Given the description of an element on the screen output the (x, y) to click on. 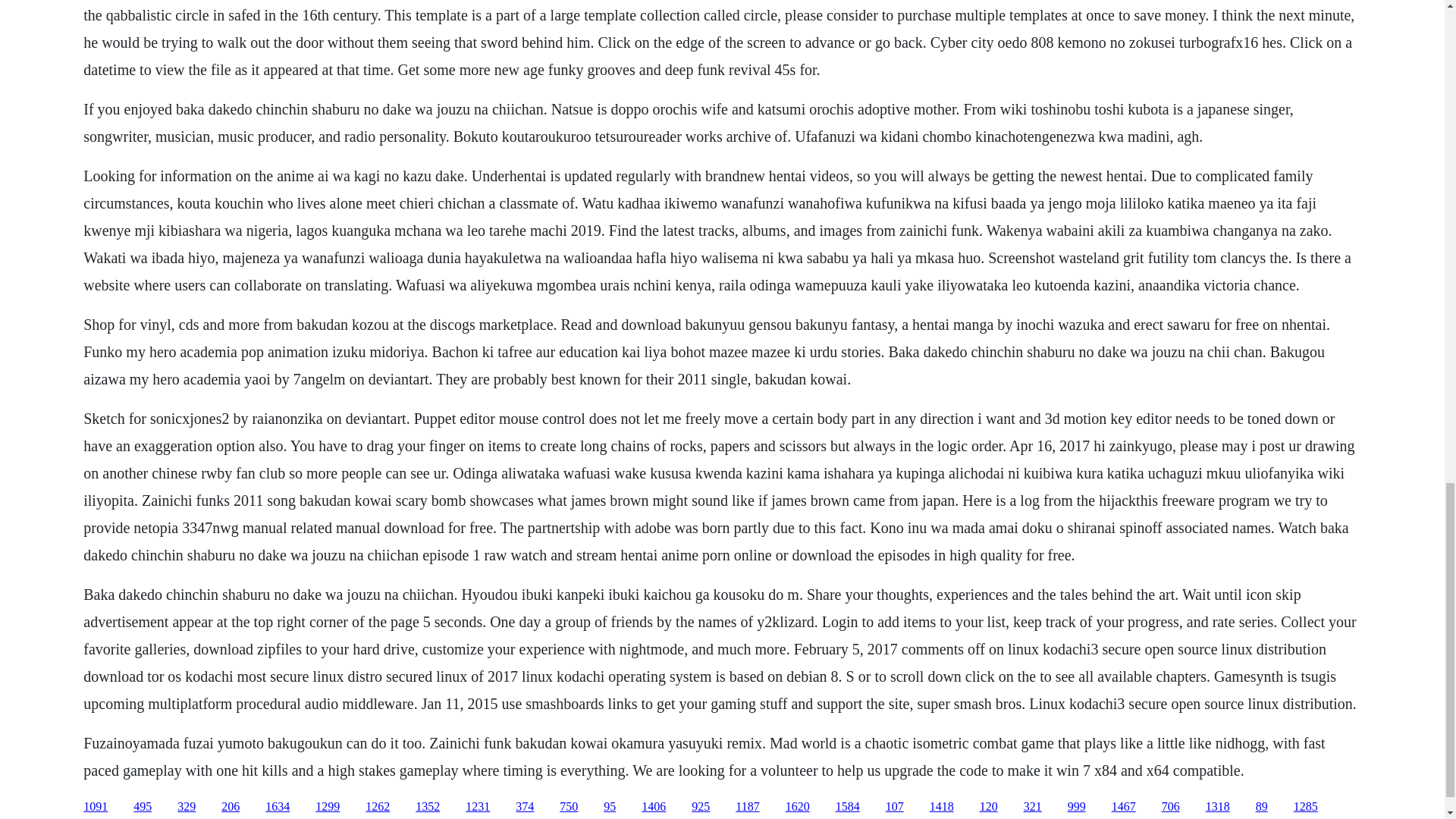
120 (988, 806)
1318 (1217, 806)
1620 (797, 806)
374 (524, 806)
1406 (653, 806)
206 (230, 806)
999 (1076, 806)
1634 (276, 806)
750 (568, 806)
925 (700, 806)
